Given the description of an element on the screen output the (x, y) to click on. 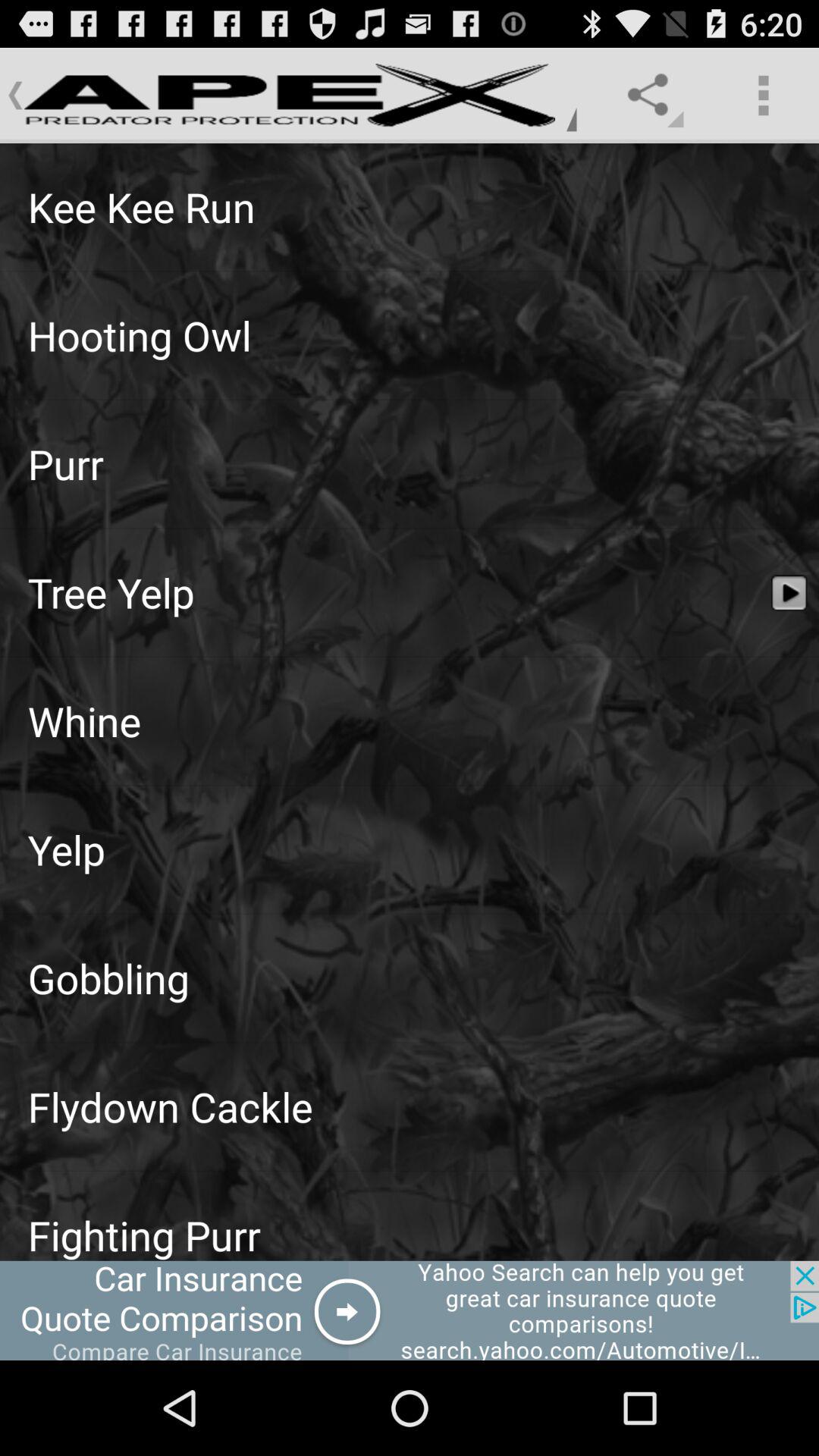
in app advertisement space (409, 1310)
